Given the description of an element on the screen output the (x, y) to click on. 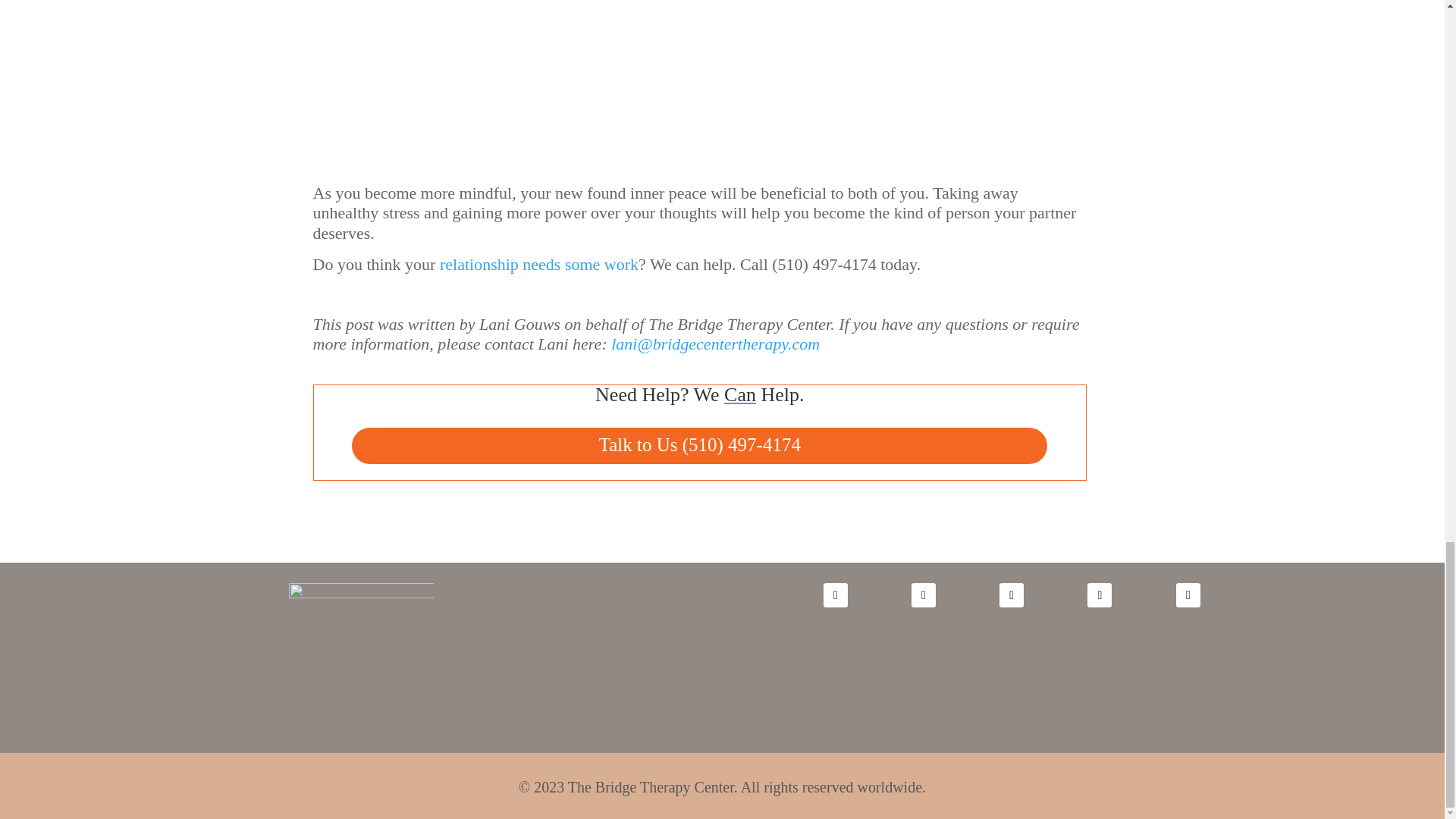
Follow on Pinterest (1187, 595)
Follow on Instagram (1010, 595)
Follow on Youtube (923, 595)
Follow on Facebook (835, 595)
Follow on X (1099, 595)
